Given the description of an element on the screen output the (x, y) to click on. 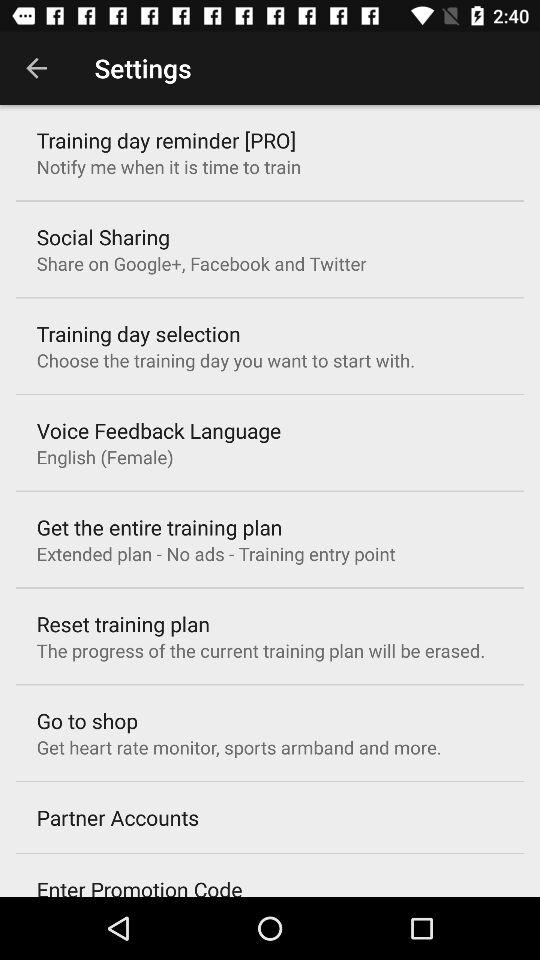
turn on the enter promotion code (139, 885)
